Given the description of an element on the screen output the (x, y) to click on. 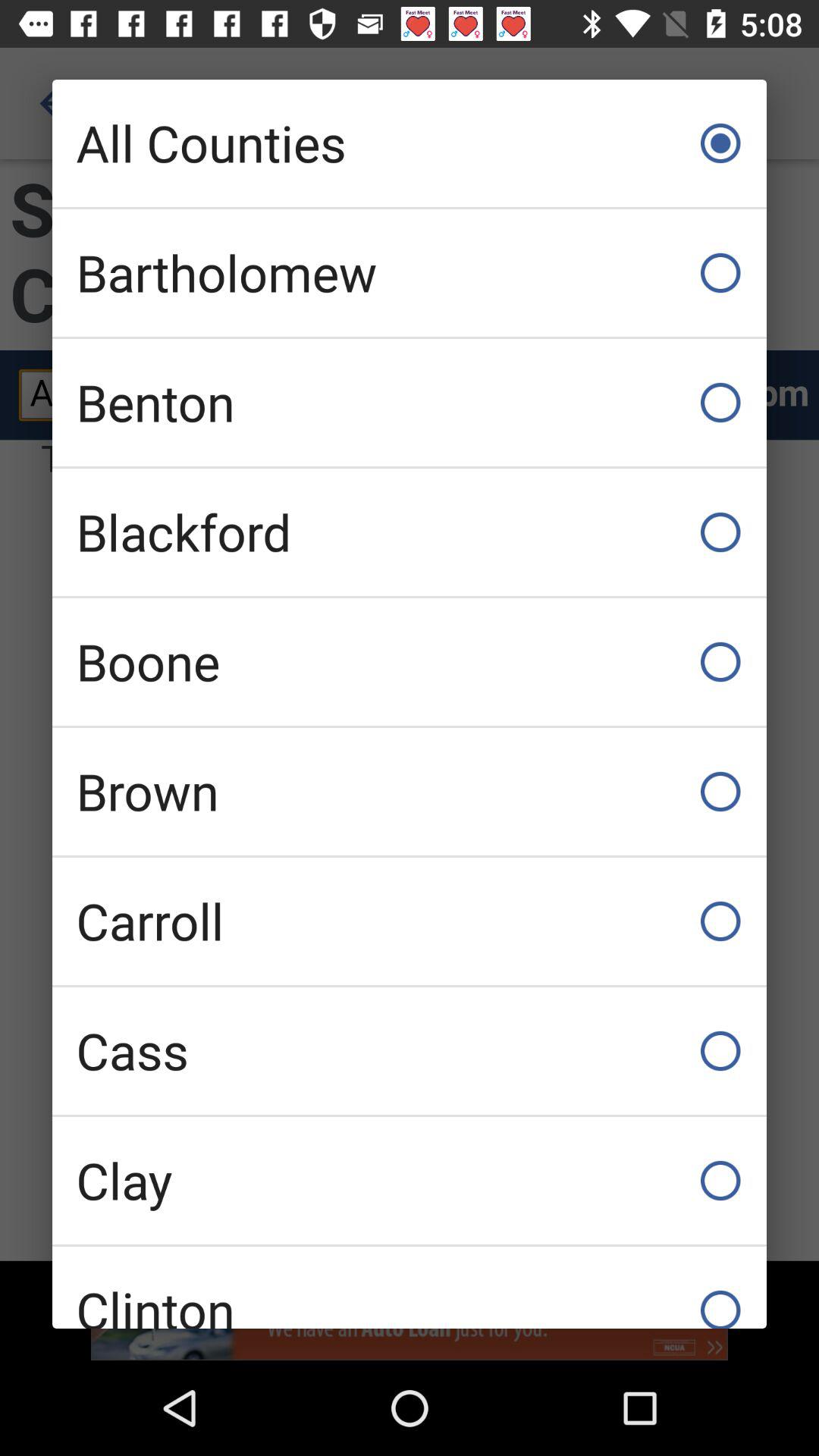
tap item above the carroll icon (409, 791)
